Given the description of an element on the screen output the (x, y) to click on. 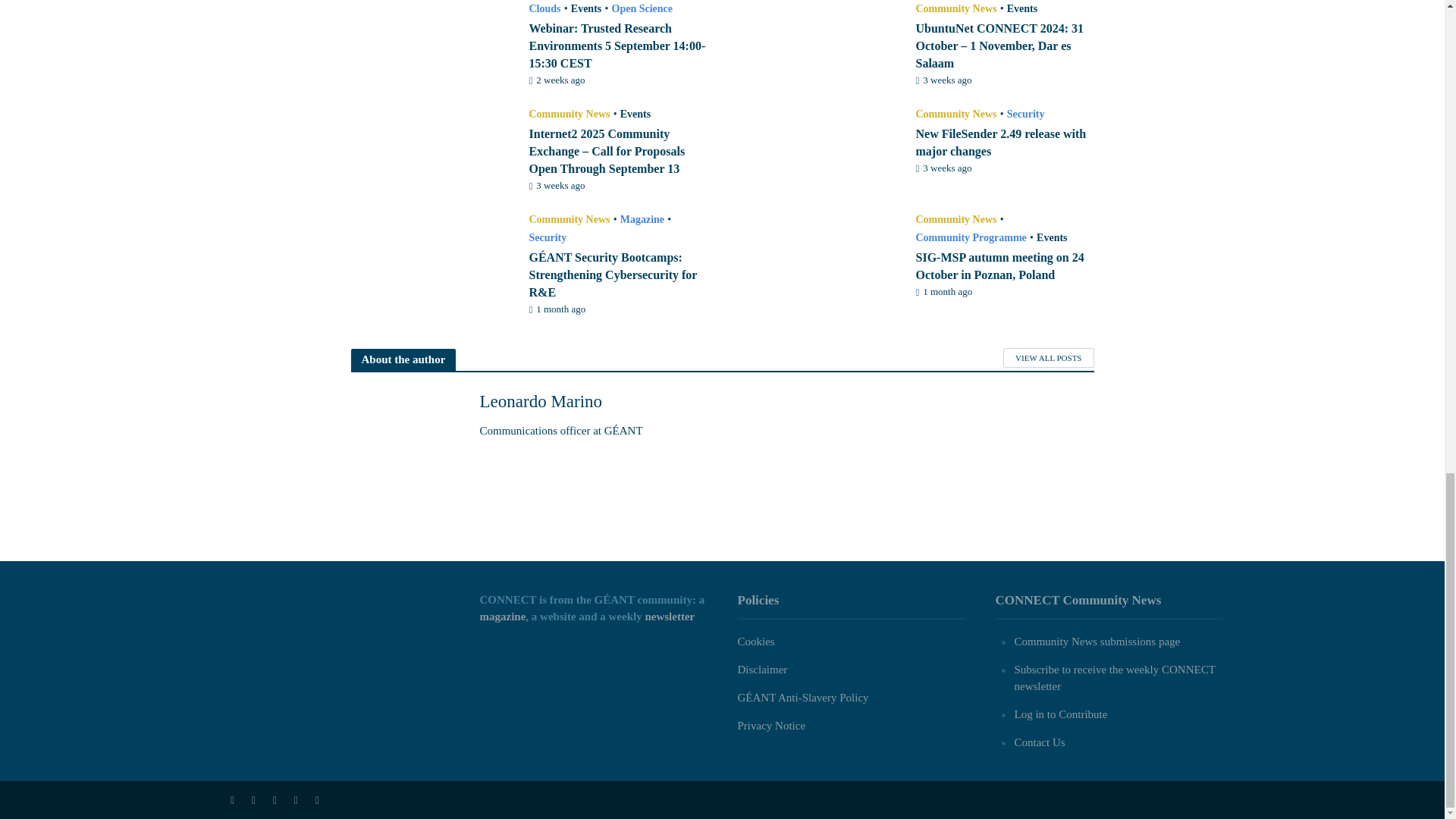
SIG-MSP autumn meeting on 24 October in Poznan, Poland (817, 254)
Disclaimer (761, 669)
Cookies (755, 641)
New FileSender 2.49 release with major changes (817, 148)
Privacy Notice (770, 725)
